Given the description of an element on the screen output the (x, y) to click on. 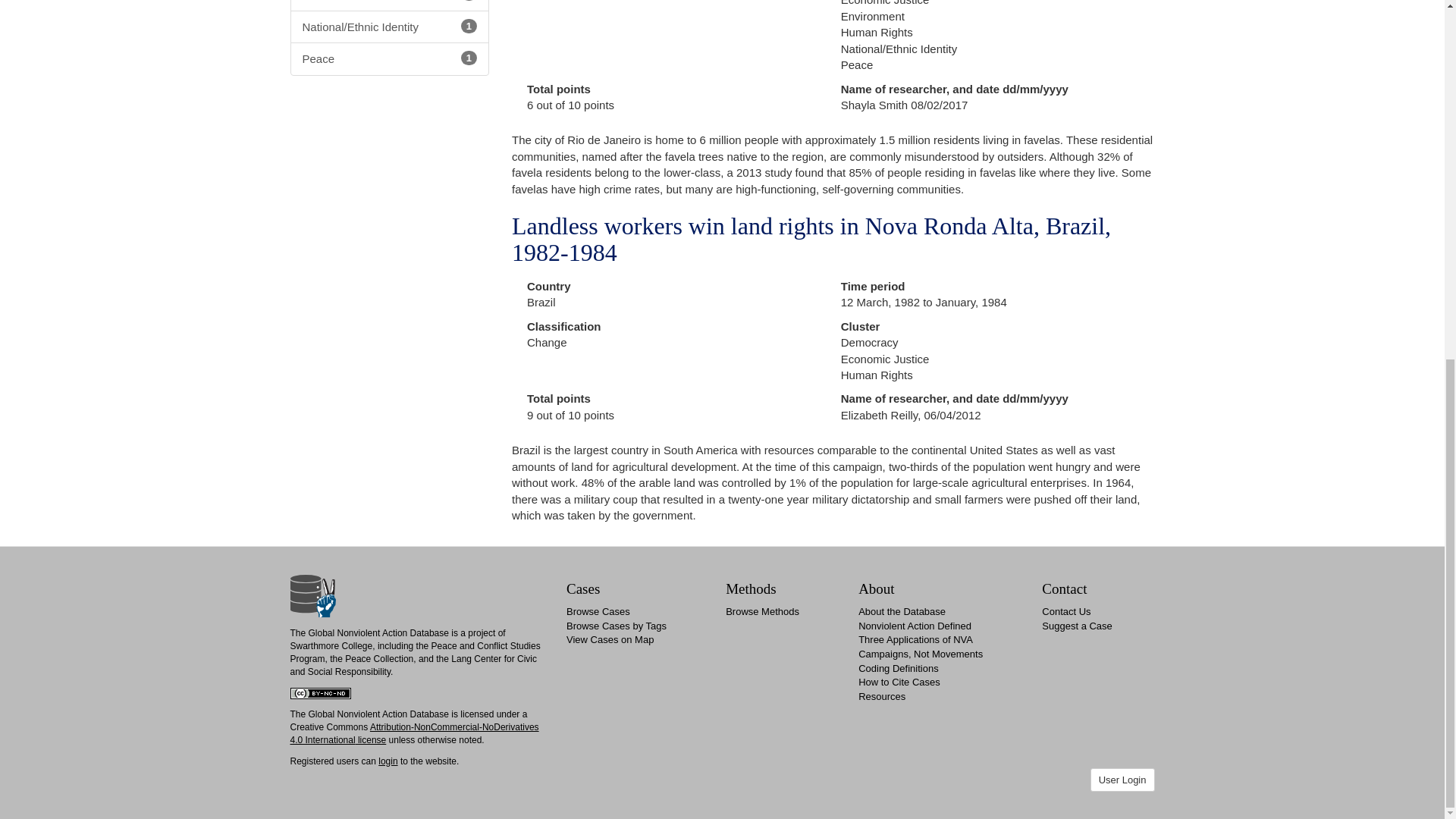
Home (311, 595)
